Given the description of an element on the screen output the (x, y) to click on. 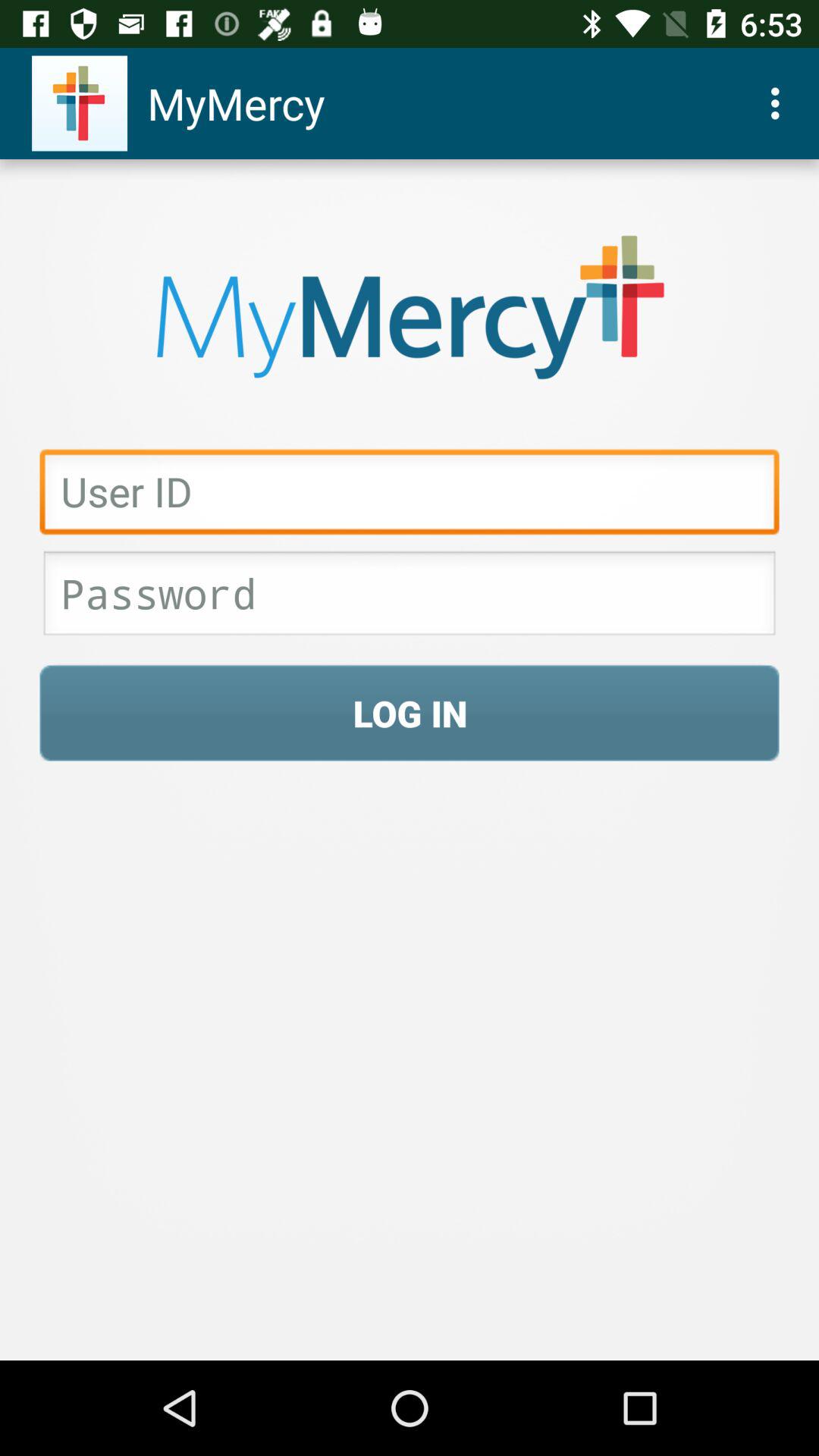
enter password (409, 597)
